Given the description of an element on the screen output the (x, y) to click on. 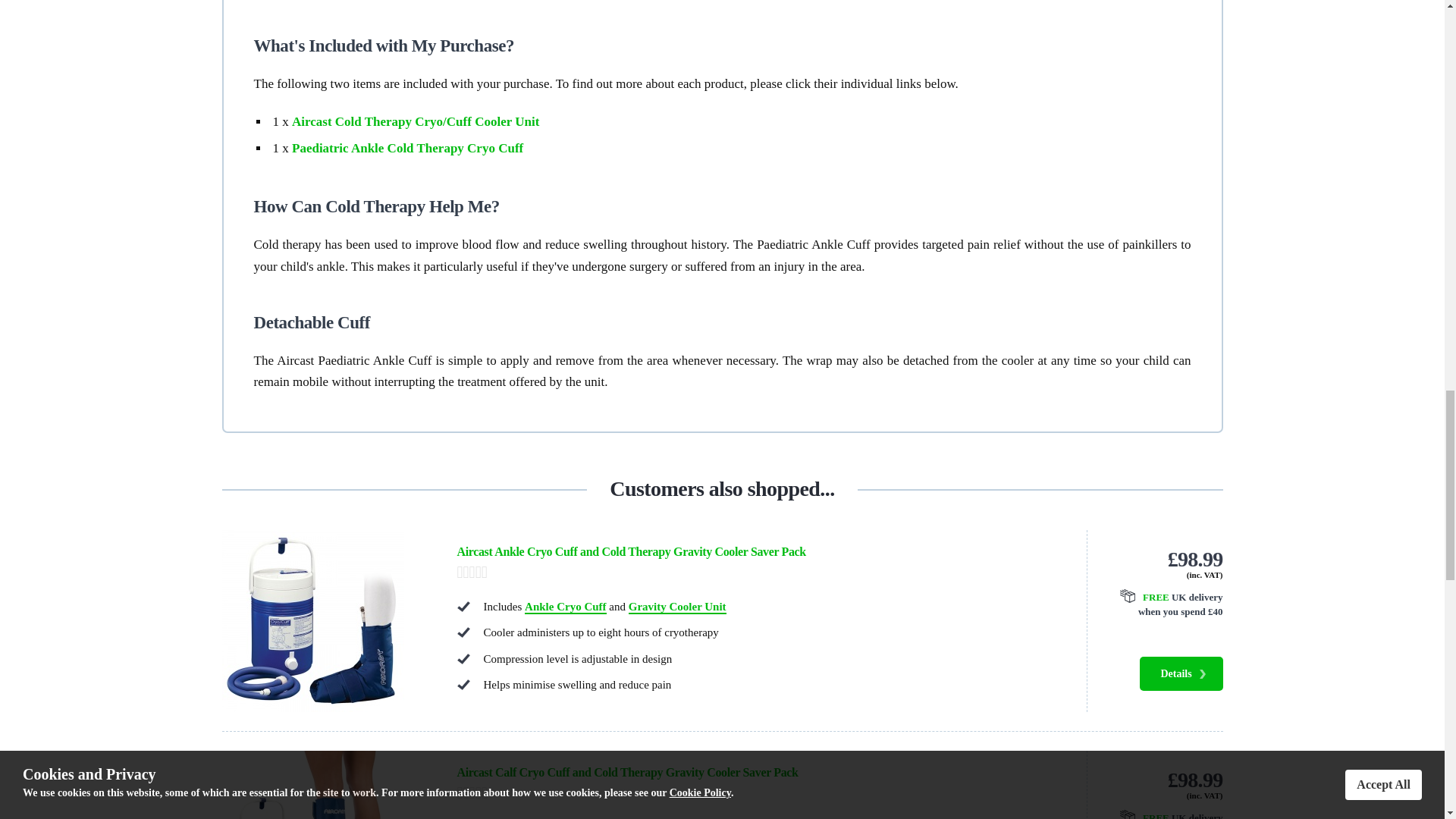
Ankle Cryo Cuff (565, 607)
Not yet reviewed (756, 792)
Gravity Cooler Unit (677, 607)
Full product details (1180, 673)
Click for details (1164, 604)
Click for details (1164, 815)
Not yet reviewed (756, 572)
Paediatric Ankle Cold Therapy Cryo Cuff (407, 147)
